Given the description of an element on the screen output the (x, y) to click on. 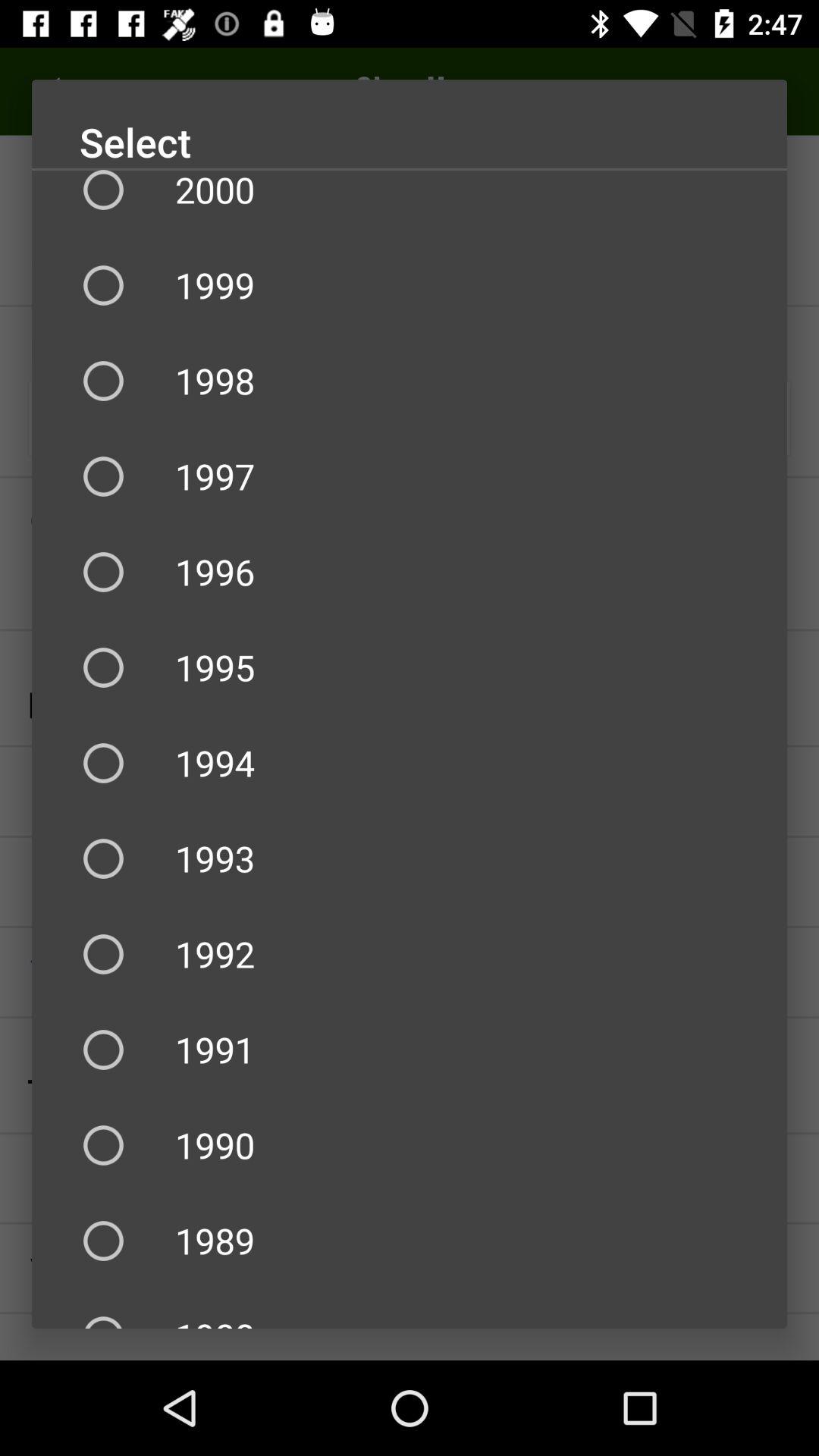
choose the icon below the 1991 icon (409, 1145)
